Given the description of an element on the screen output the (x, y) to click on. 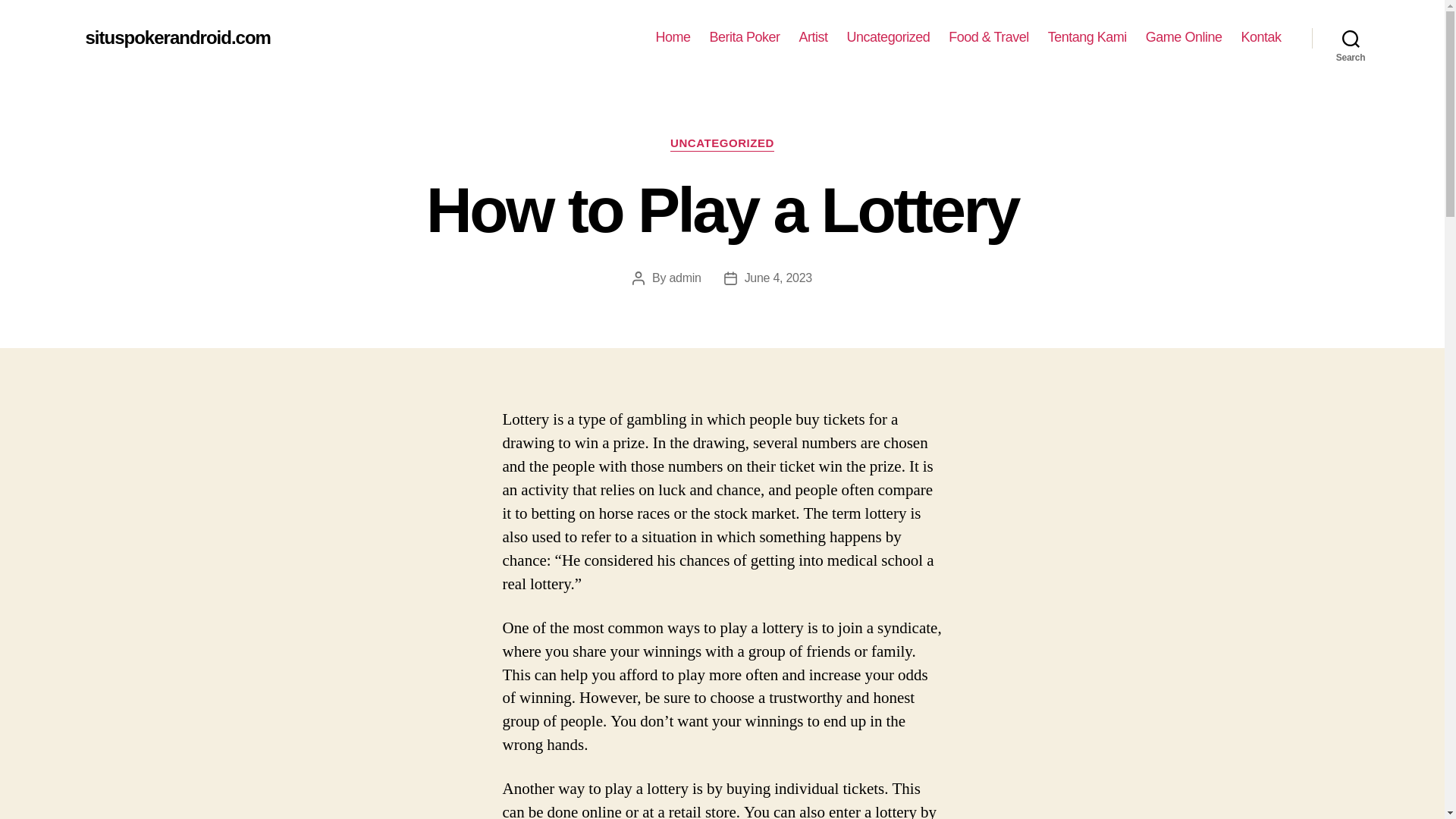
Artist (813, 37)
Uncategorized (888, 37)
Game Online (1184, 37)
Berita Poker (745, 37)
Tentang Kami (1087, 37)
admin (684, 277)
June 4, 2023 (778, 277)
situspokerandroid.com (176, 37)
Search (1350, 37)
UNCATEGORIZED (721, 143)
